Given the description of an element on the screen output the (x, y) to click on. 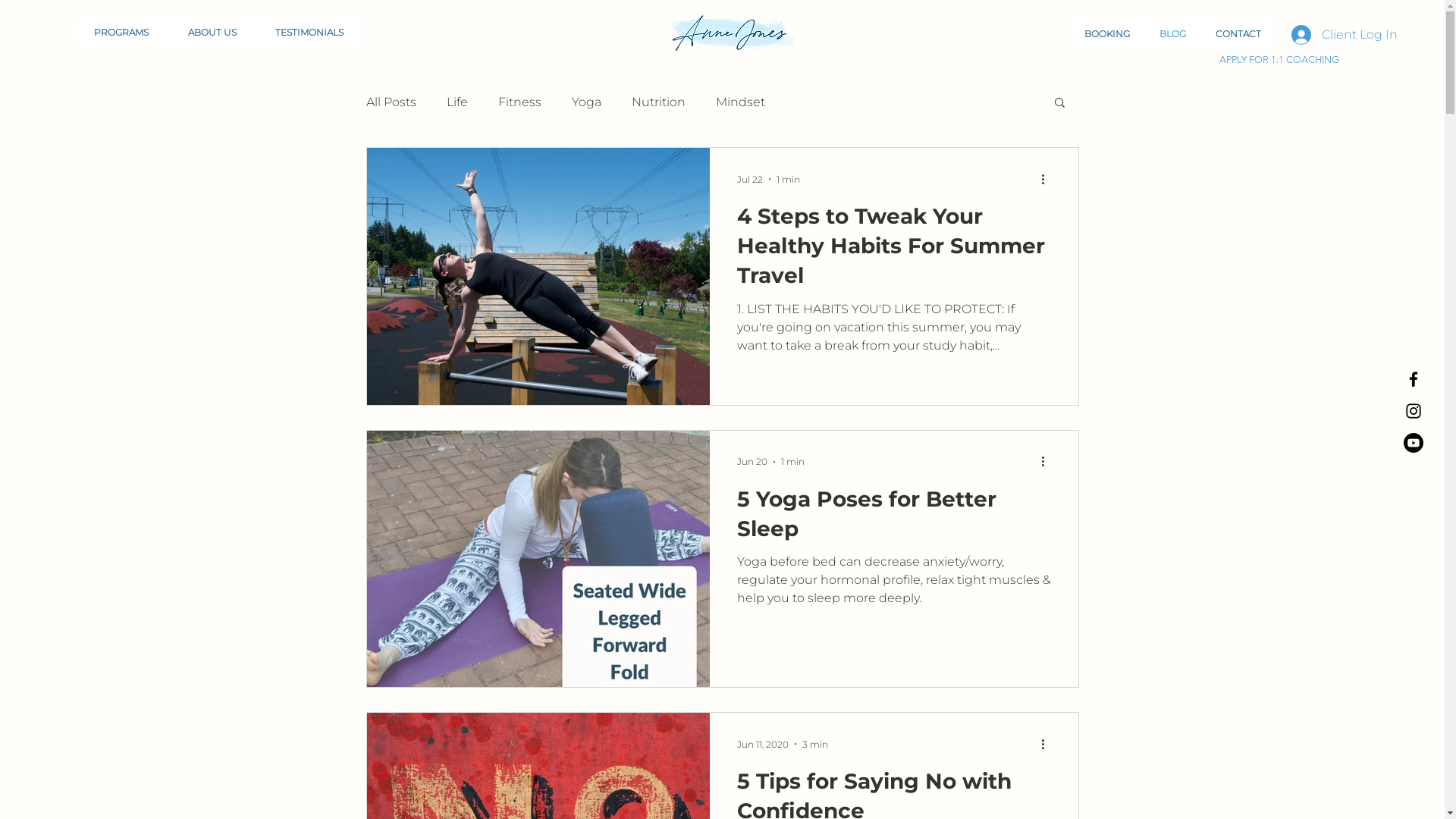
Life Element type: text (456, 101)
ABOUT US Element type: text (211, 32)
APPLY FOR 1:1 COACHING Element type: text (1280, 58)
5 Yoga Poses for Better Sleep Element type: text (894, 517)
All Posts Element type: text (390, 101)
TESTIMONIALS Element type: text (309, 32)
4 Steps to Tweak Your Healthy Habits For Summer Travel Element type: text (894, 250)
BOOKING Element type: text (1107, 33)
Mindset Element type: text (740, 101)
Client Log In Element type: text (1322, 34)
BLOG Element type: text (1172, 33)
CONTACT Element type: text (1238, 33)
Nutrition Element type: text (657, 101)
Fitness Element type: text (518, 101)
Yoga Element type: text (586, 101)
PROGRAMS Element type: text (120, 32)
